Given the description of an element on the screen output the (x, y) to click on. 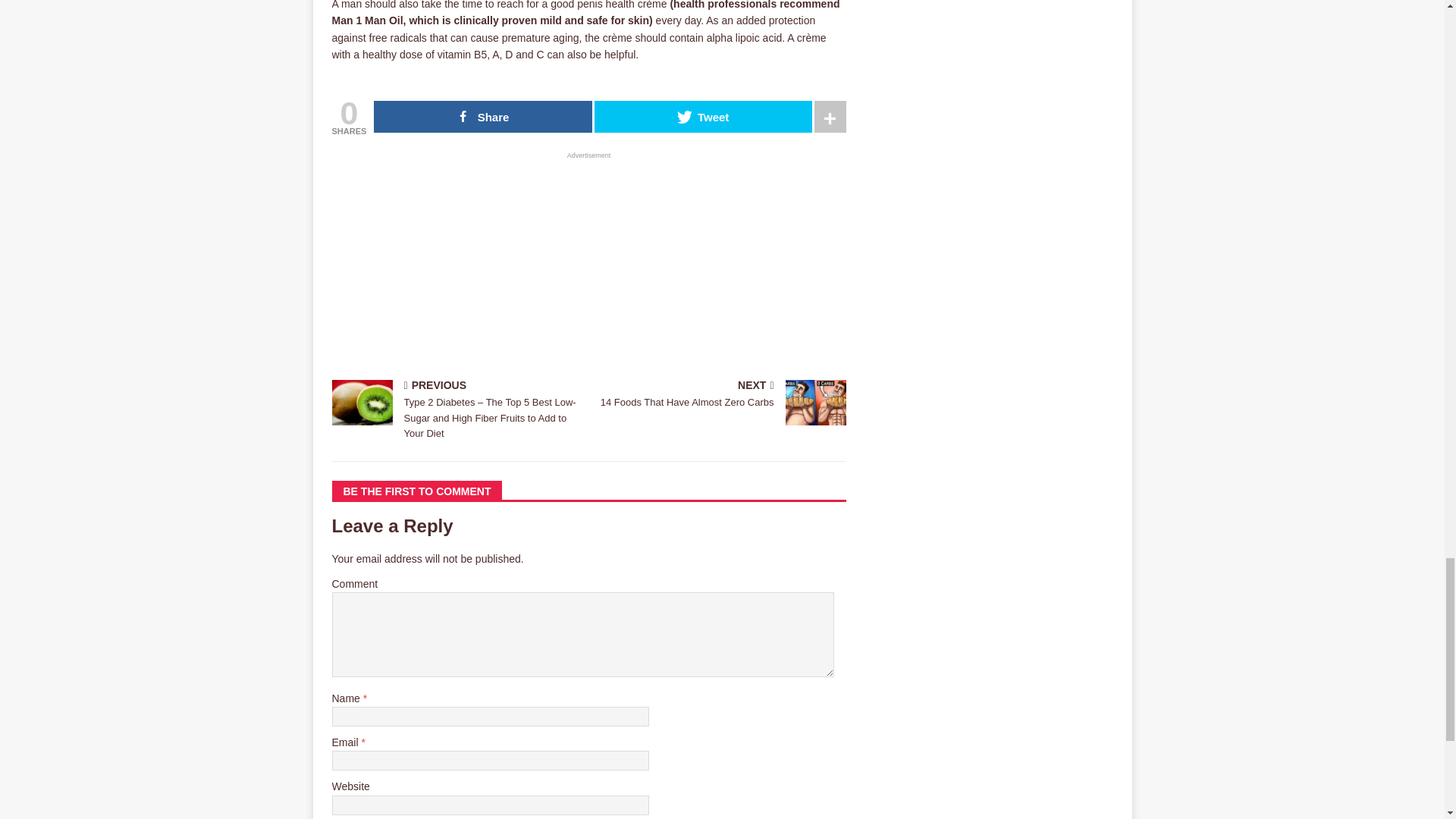
Advertisement (720, 395)
Share (588, 267)
Tweet (482, 116)
